Given the description of an element on the screen output the (x, y) to click on. 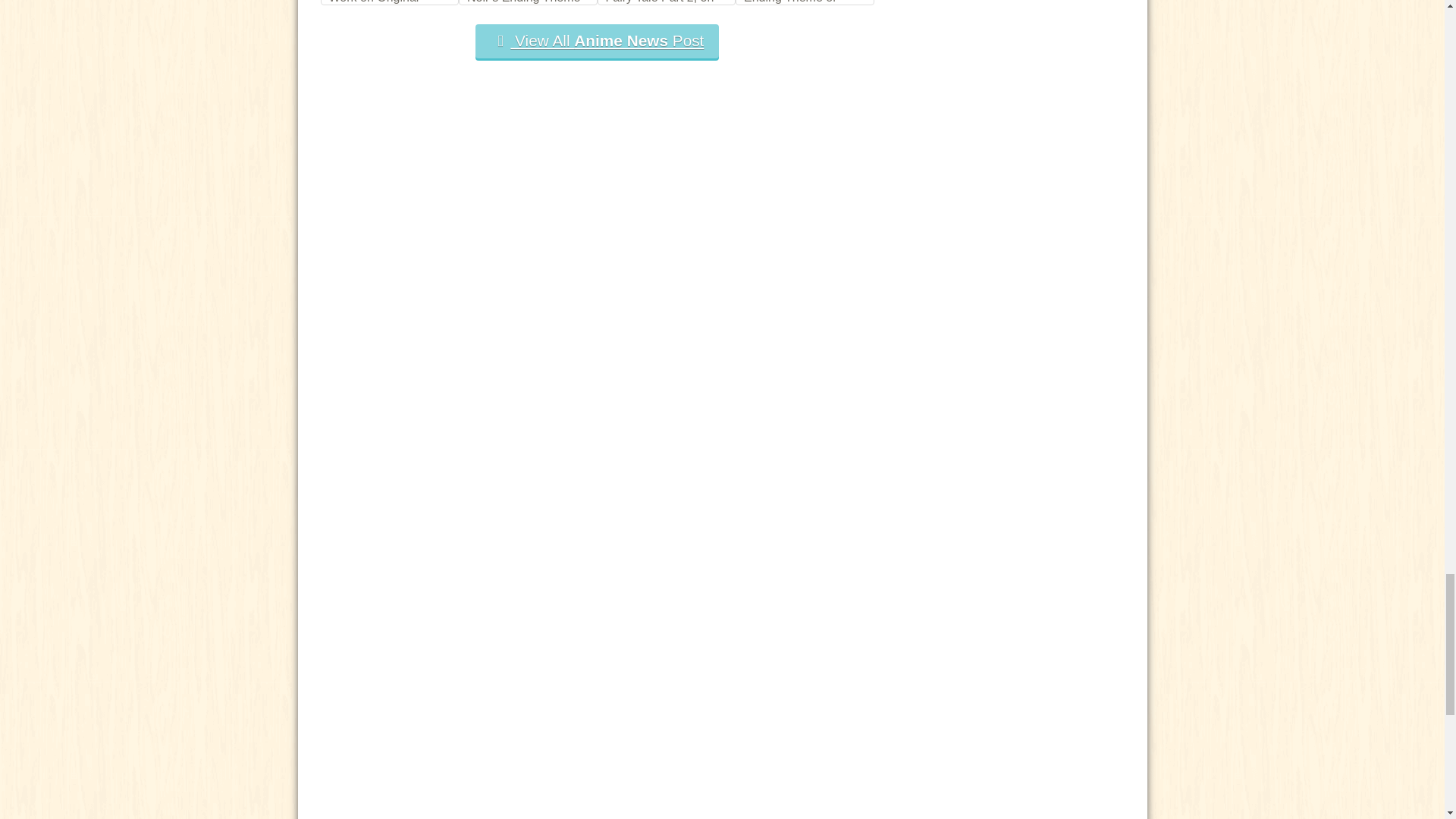
View All Anime News Post (597, 41)
